Given the description of an element on the screen output the (x, y) to click on. 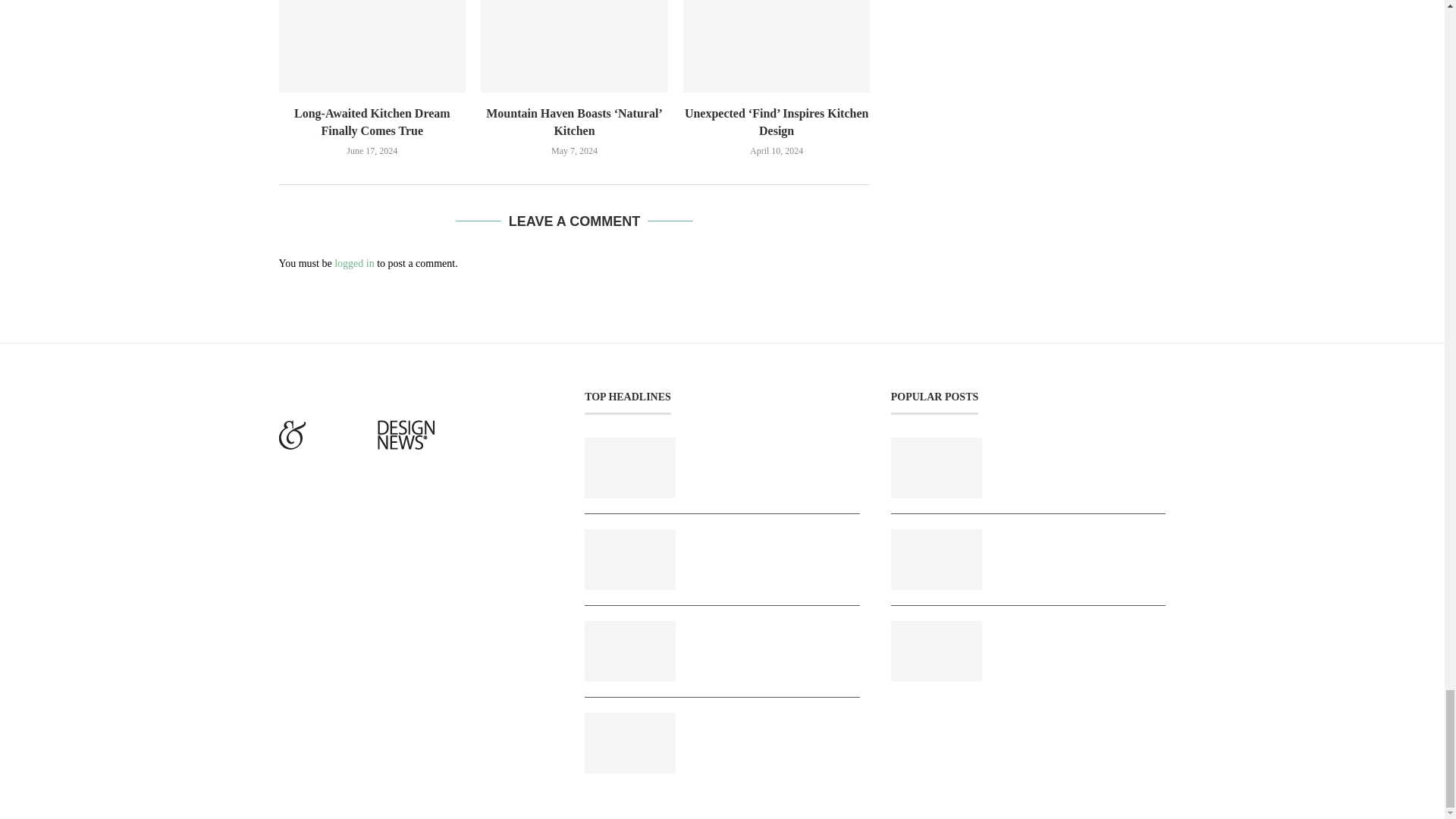
Long-Awaited Kitchen Dream Finally Comes True (372, 46)
